Given the description of an element on the screen output the (x, y) to click on. 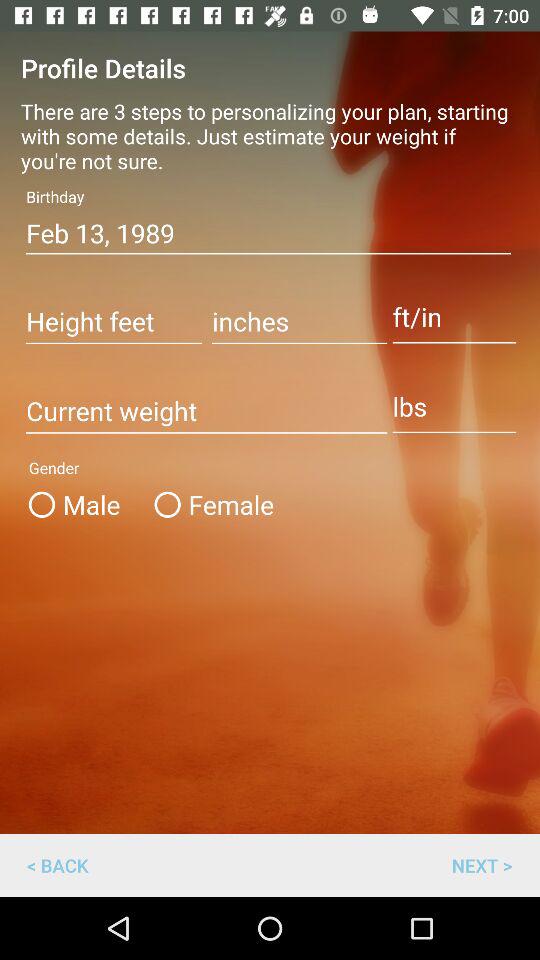
insert inches (299, 323)
